Given the description of an element on the screen output the (x, y) to click on. 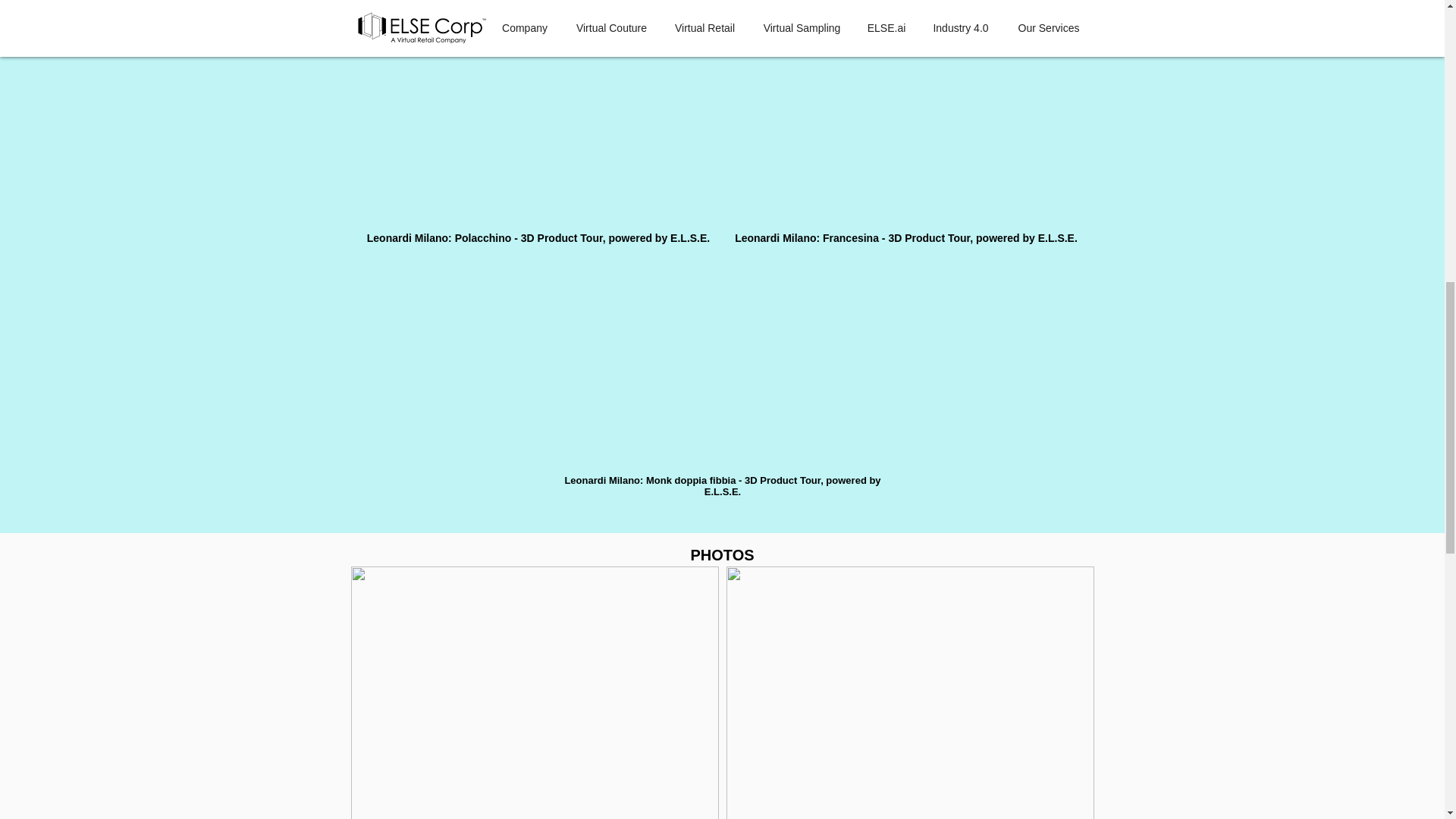
External Vimeo (538, 130)
External Vimeo (905, 130)
External Vimeo (721, 371)
